Given the description of an element on the screen output the (x, y) to click on. 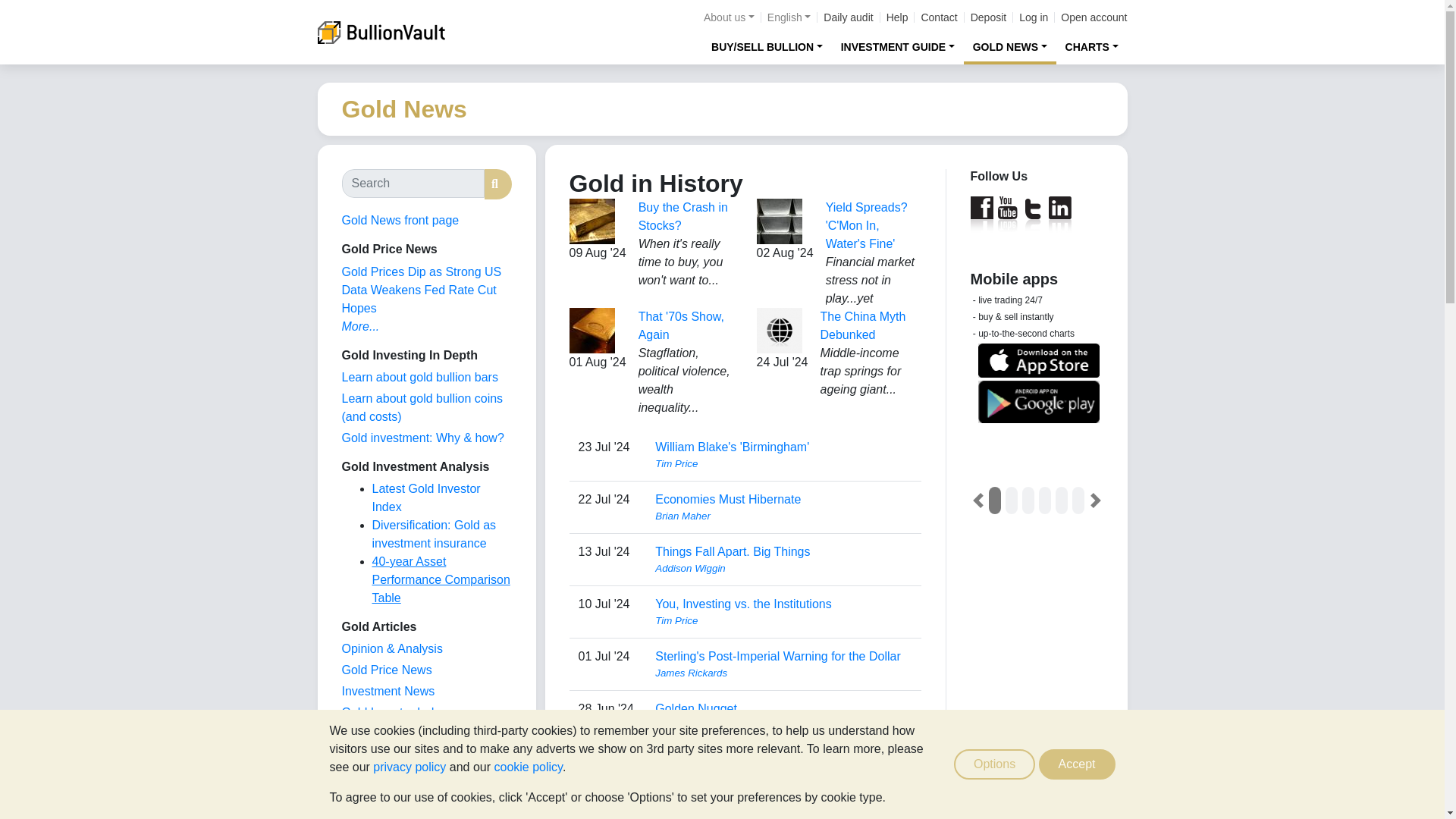
privacy policy (408, 766)
About us (728, 17)
Open account (1093, 17)
Investment News (386, 690)
The View from the Vault (391, 648)
cookie policy (528, 766)
Contact (938, 17)
View user profile. (783, 672)
View user profile. (783, 568)
English (788, 17)
